Given the description of an element on the screen output the (x, y) to click on. 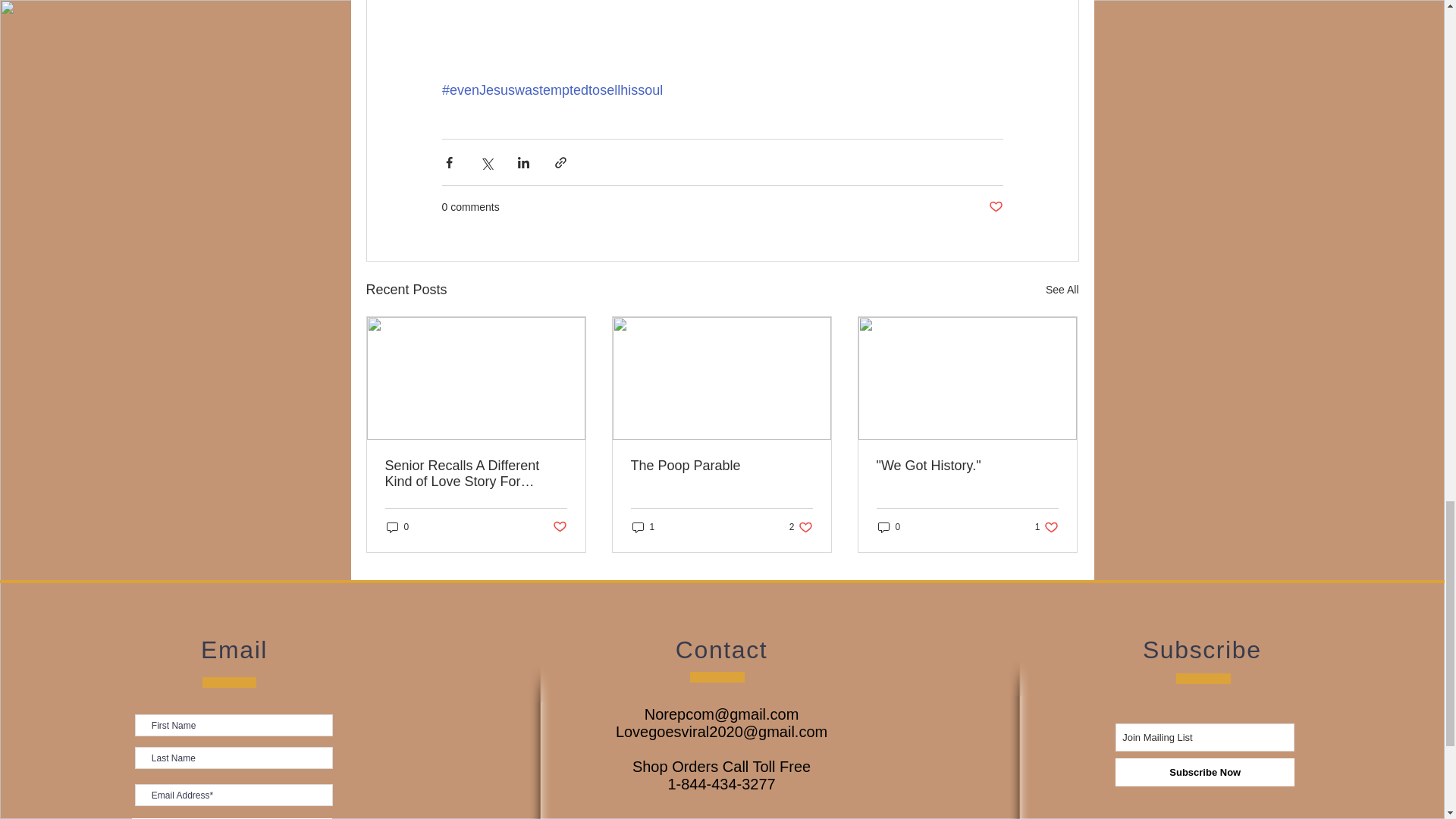
Post not marked as liked (558, 527)
Post not marked as liked (995, 207)
1 (643, 527)
See All (1061, 290)
The Poop Parable (721, 465)
0 (397, 527)
